Given the description of an element on the screen output the (x, y) to click on. 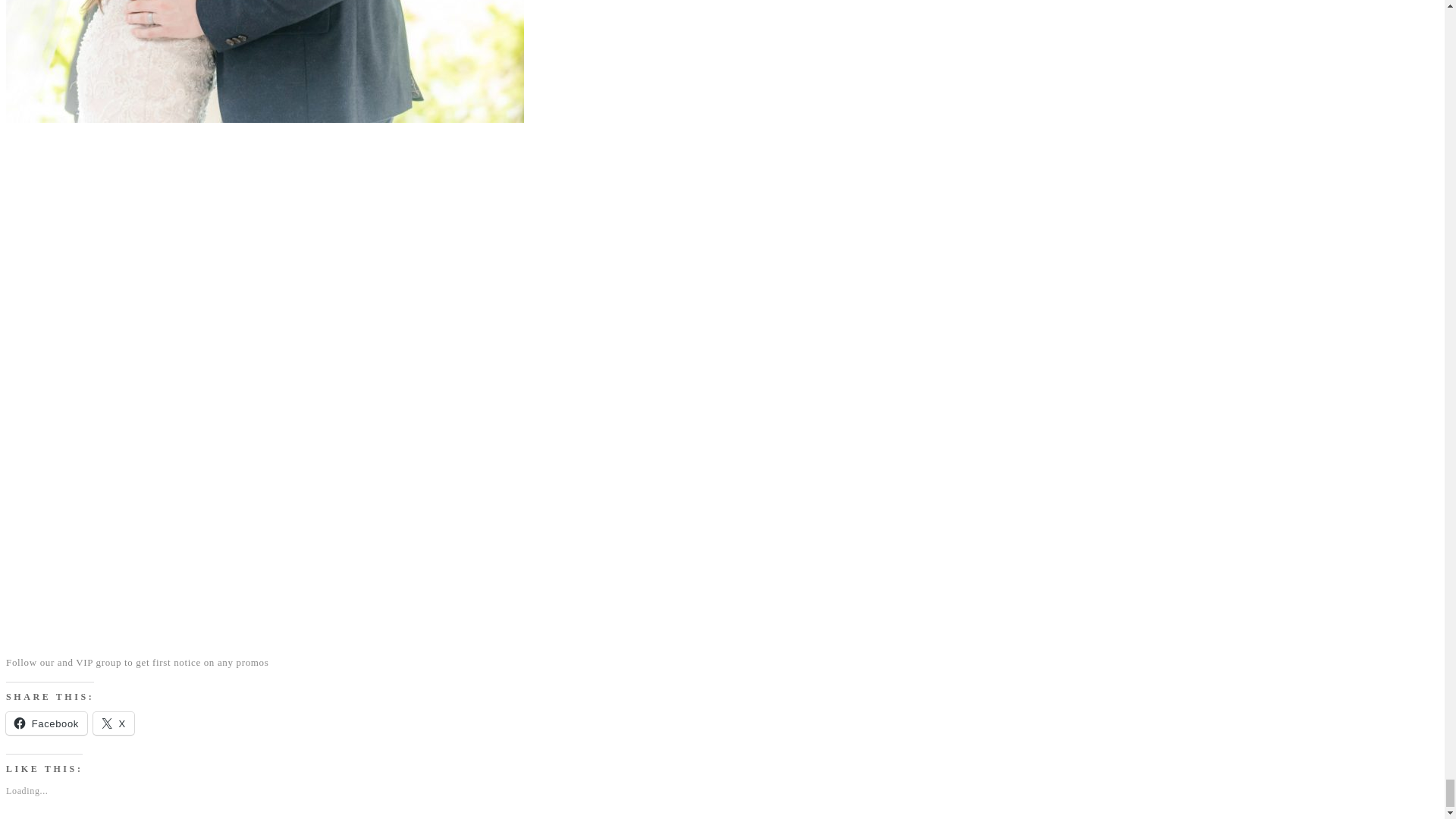
Click to share on X (113, 722)
Click to share on Facebook (46, 722)
